Given the description of an element on the screen output the (x, y) to click on. 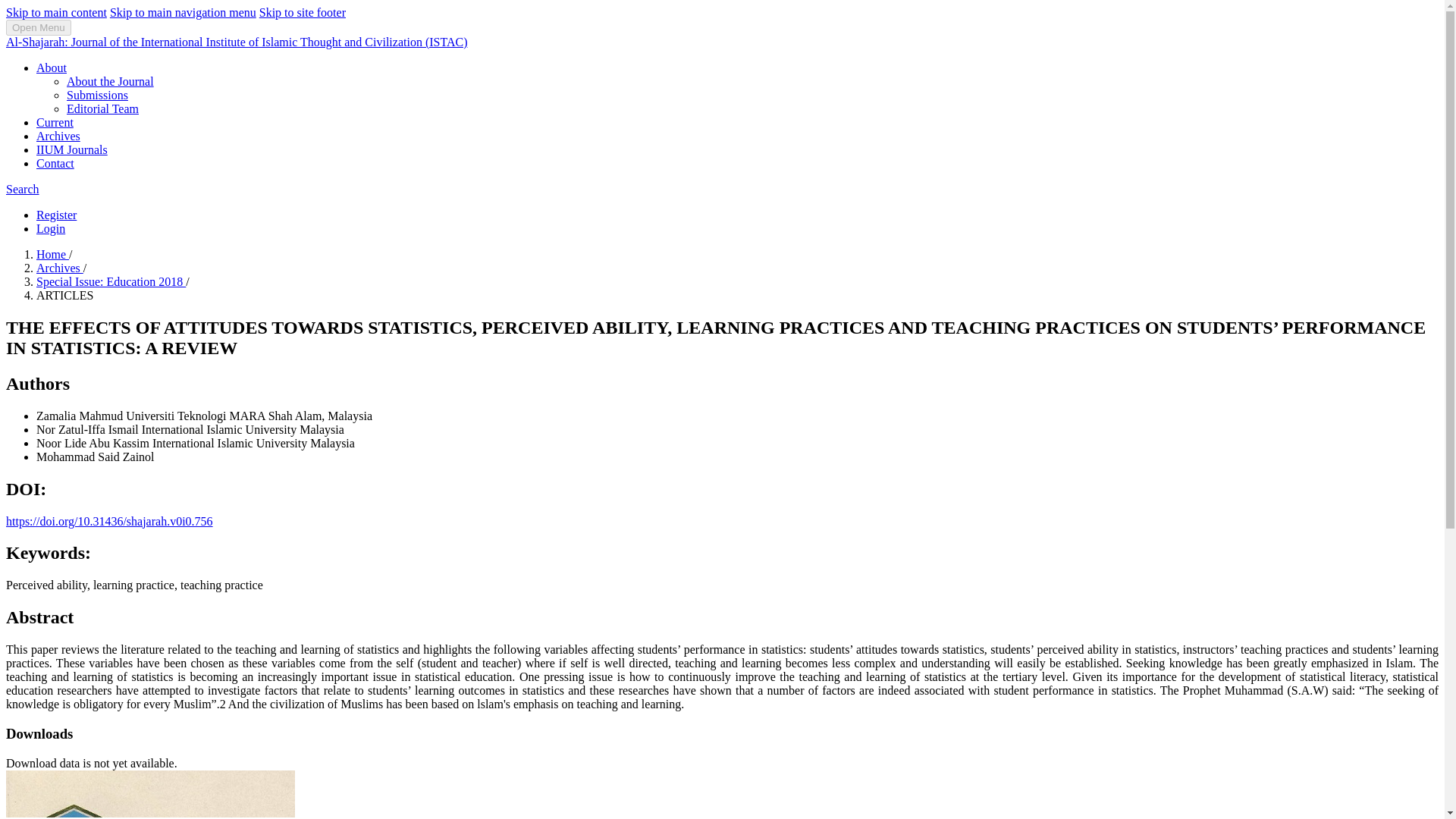
Current (55, 122)
Register (56, 214)
Login (50, 228)
Skip to site footer (302, 11)
Submissions (97, 94)
About the Journal (110, 81)
Special Issue: Education 2018 (111, 281)
About (51, 67)
Open Menu (38, 27)
Editorial Team (102, 108)
